Given the description of an element on the screen output the (x, y) to click on. 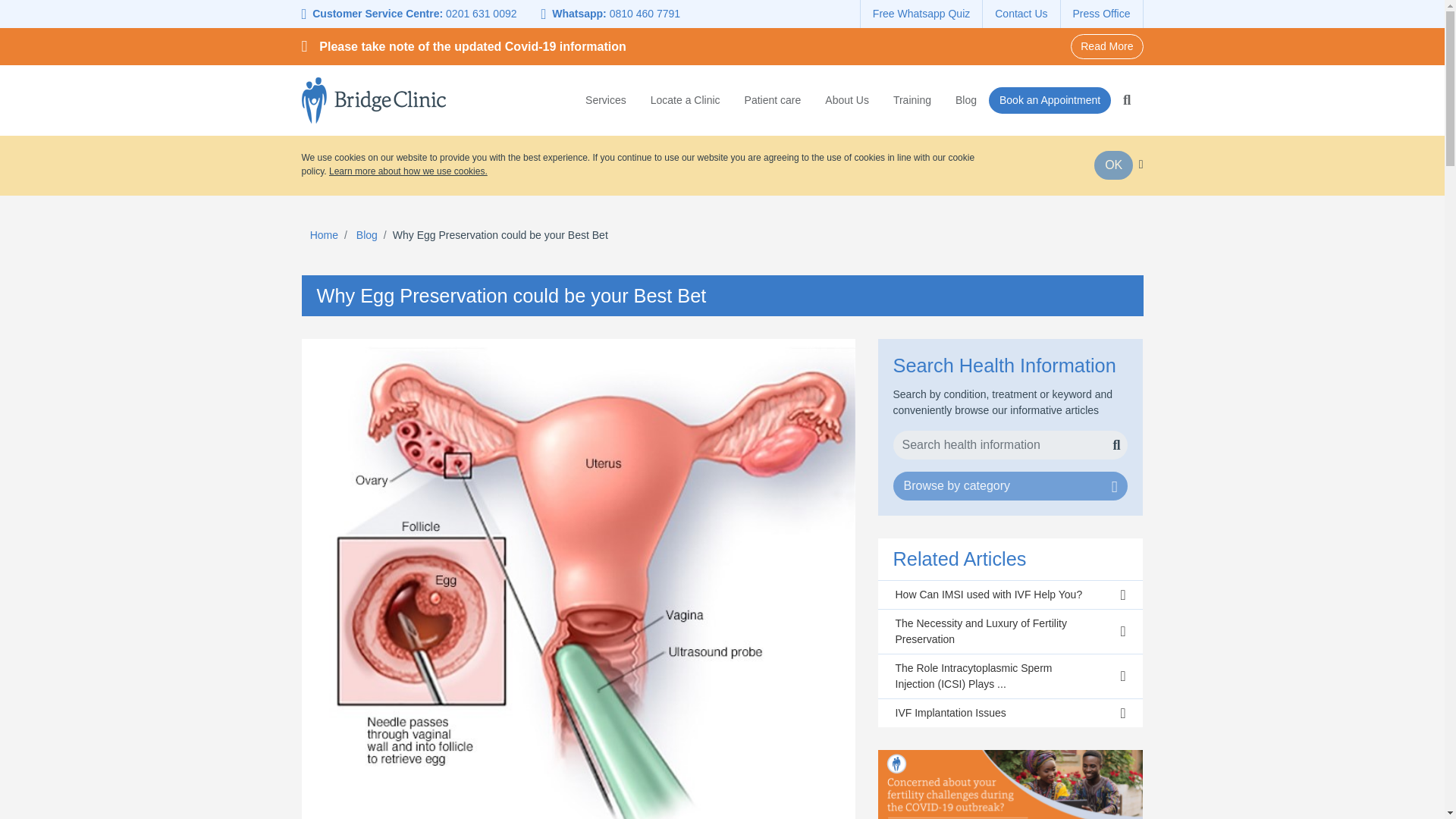
Book an Appointment (1049, 99)
Locate a Clinic (685, 97)
About Us (846, 97)
Whatsapp: 0810 460 7791 (611, 13)
Contact Us (1020, 13)
Press Office (1100, 13)
Services (612, 97)
Customer Service Centre: 0201 631 0092 (415, 13)
Read More (1106, 46)
Free Whatsapp Quiz (920, 13)
